Given the description of an element on the screen output the (x, y) to click on. 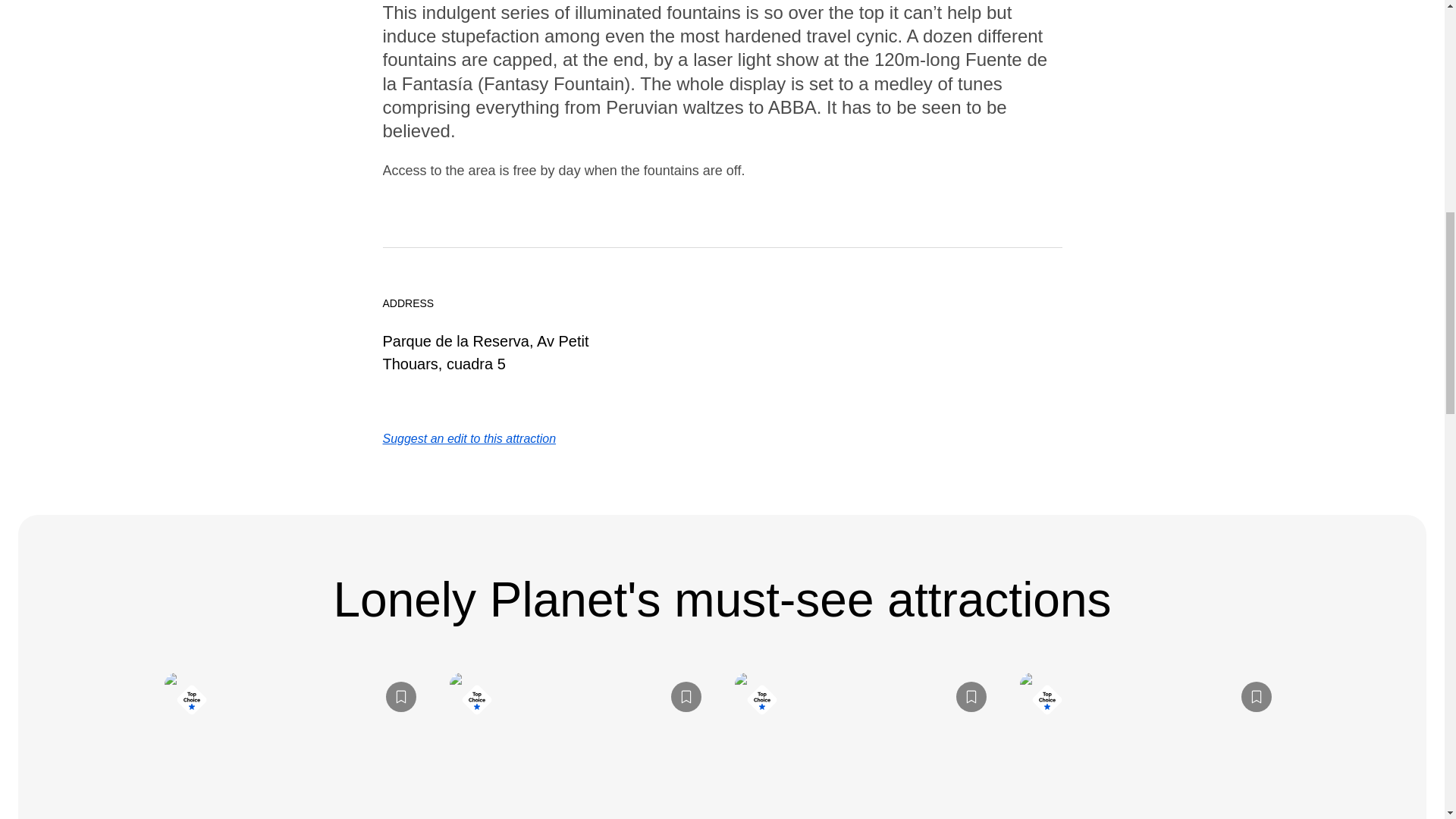
Login (970, 696)
Login (684, 696)
Login (1255, 696)
Parque de la Reserva, Av Petit Thouars, cuadra 5 (484, 352)
Login (399, 696)
Suggest an edit to this attraction (468, 438)
